Given the description of an element on the screen output the (x, y) to click on. 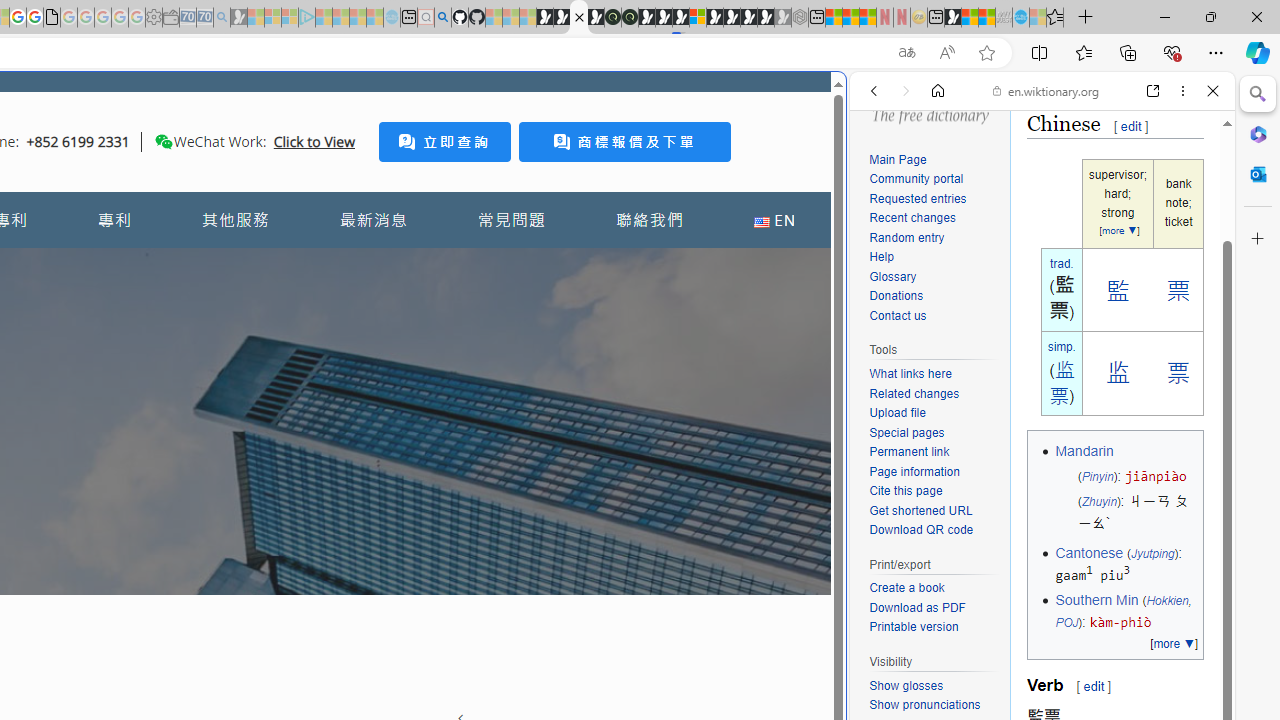
Show pronunciations (924, 704)
Related changes (914, 393)
Recent changes (912, 218)
Show translate options (906, 53)
